Given the description of an element on the screen output the (x, y) to click on. 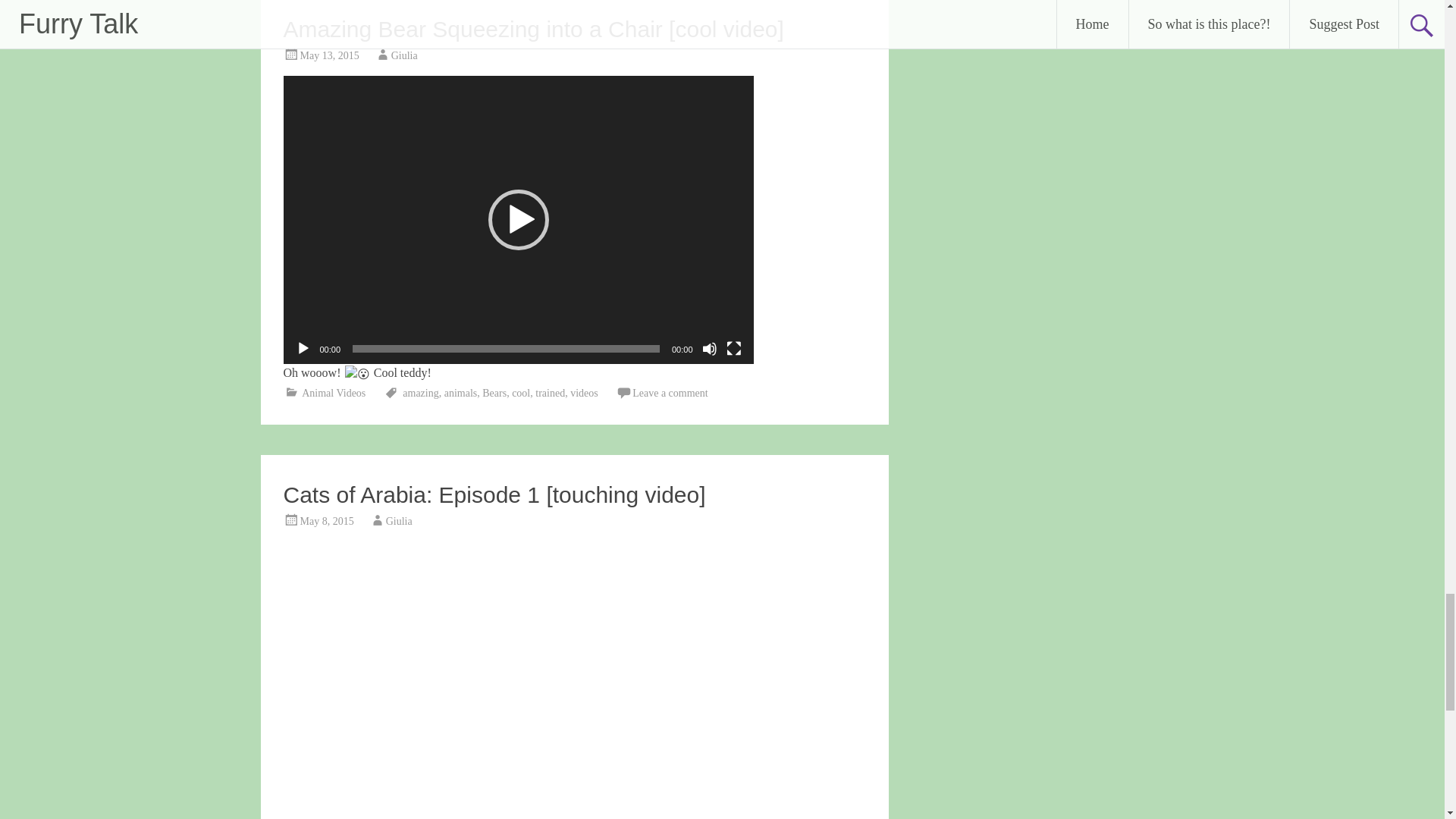
Mute (709, 348)
Fullscreen (733, 348)
Play (303, 348)
